Given the description of an element on the screen output the (x, y) to click on. 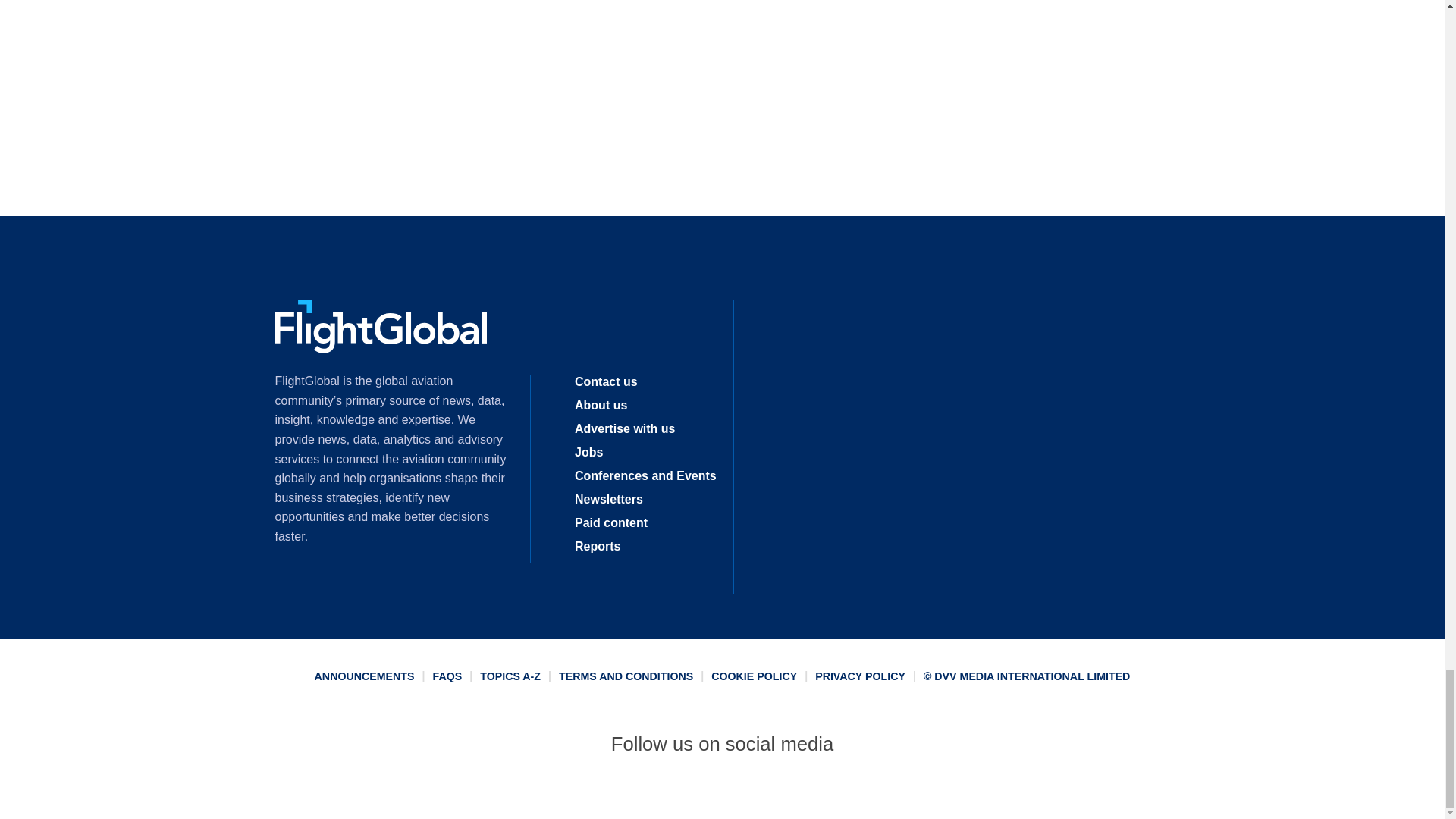
Connect with us on Linked In (721, 791)
Email us (776, 791)
Connect with us on Facebook (611, 791)
Connect with us on Youtube (831, 791)
Connect with us on Twitter (667, 791)
